Given the description of an element on the screen output the (x, y) to click on. 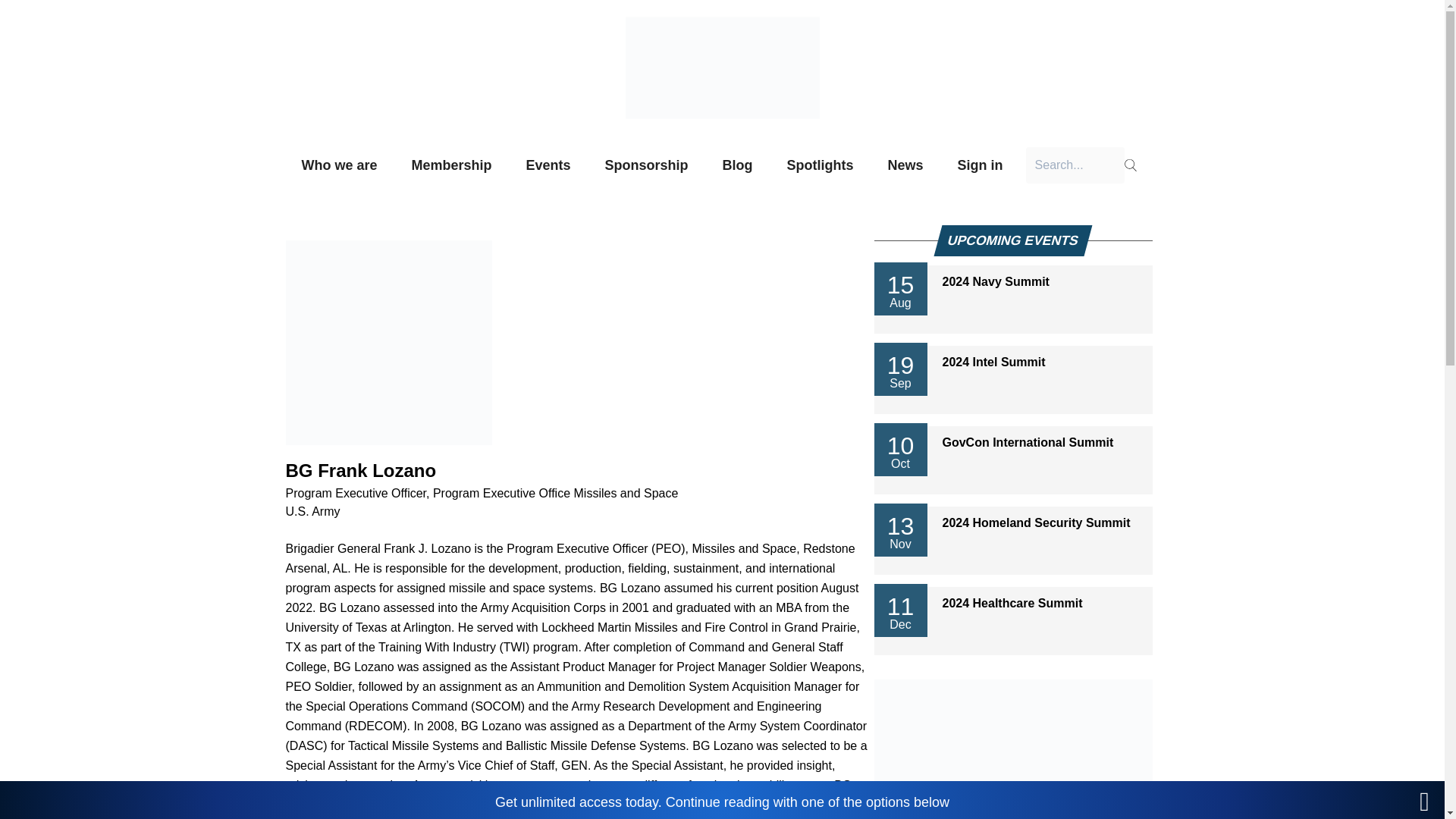
Blog (737, 164)
Membership (1012, 523)
Spotlights (450, 164)
Events (1012, 361)
News (820, 164)
Who we are (546, 164)
Sign in (905, 164)
Sponsorship (338, 164)
